Given the description of an element on the screen output the (x, y) to click on. 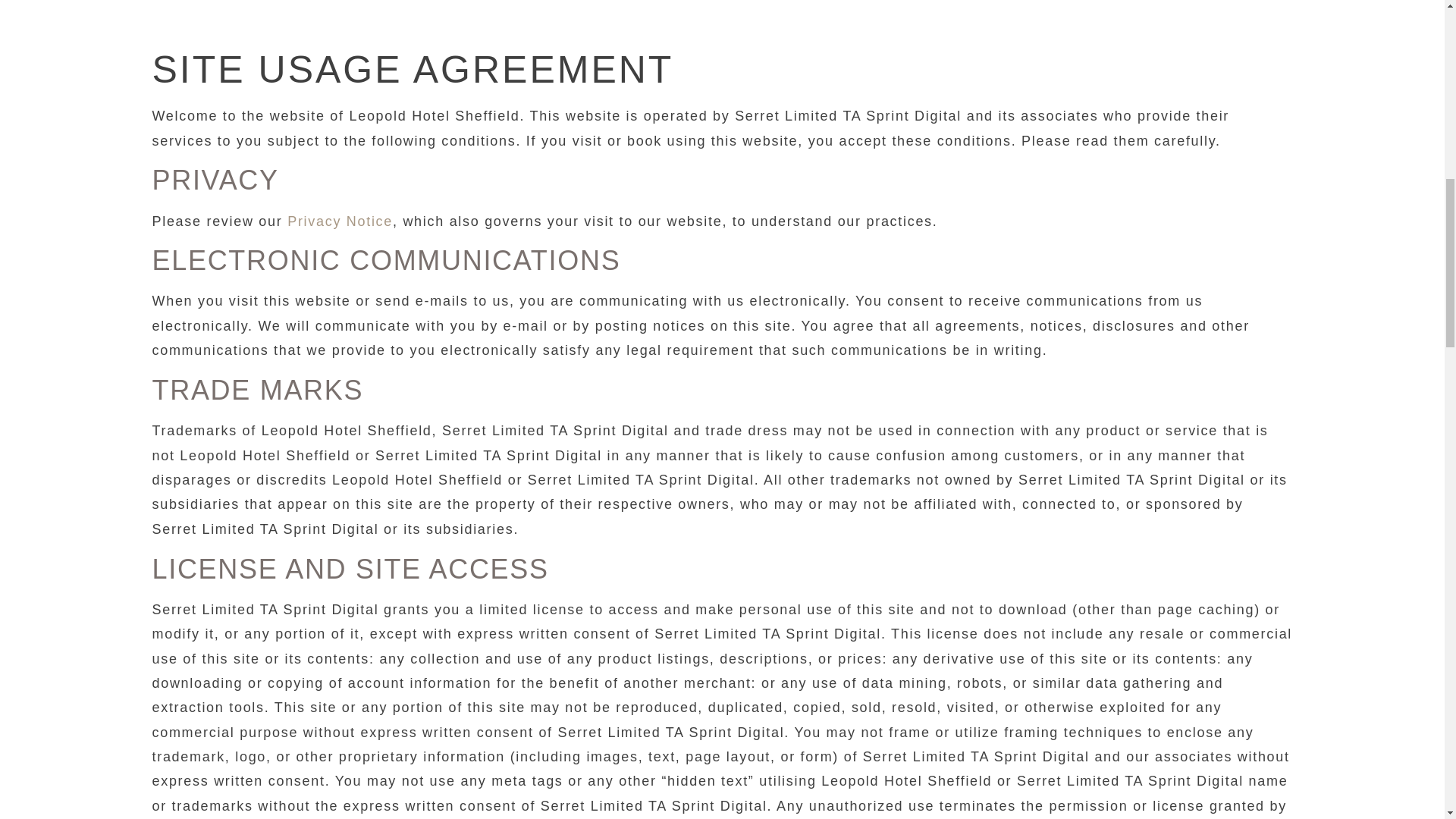
Privacy Notice (339, 221)
